Given the description of an element on the screen output the (x, y) to click on. 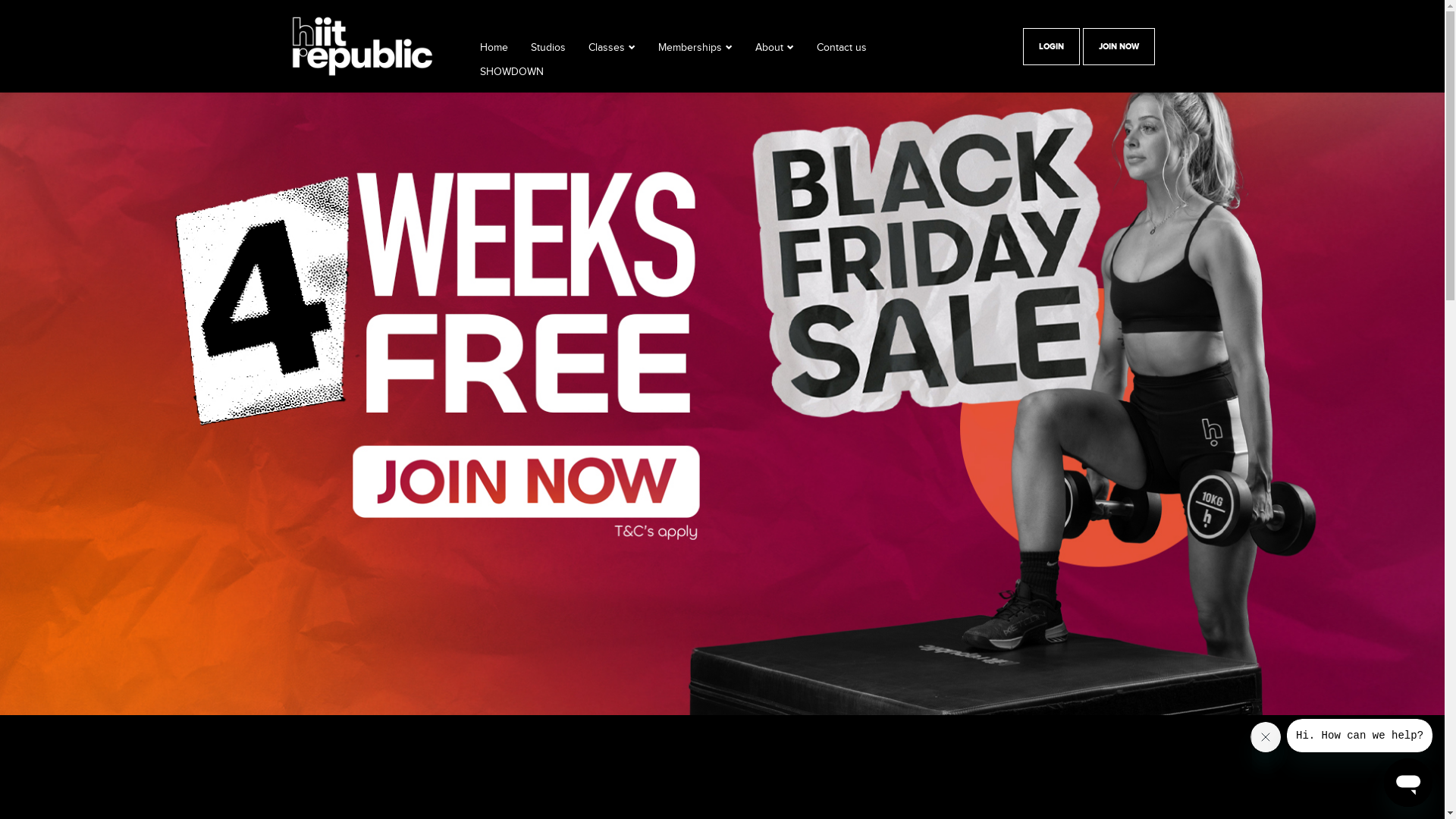
Contact us Element type: text (840, 52)
Message from company Element type: hover (1359, 735)
Memberships Element type: text (689, 52)
JOIN NOW Element type: text (1118, 46)
Studios Element type: text (547, 52)
Button to launch messaging window Element type: hover (1407, 782)
SHOWDOWN Element type: text (510, 76)
About Element type: text (769, 52)
Close message Element type: hover (1265, 736)
Classes Element type: text (606, 52)
Home Element type: text (493, 52)
LOGIN Element type: text (1050, 46)
